Given the description of an element on the screen output the (x, y) to click on. 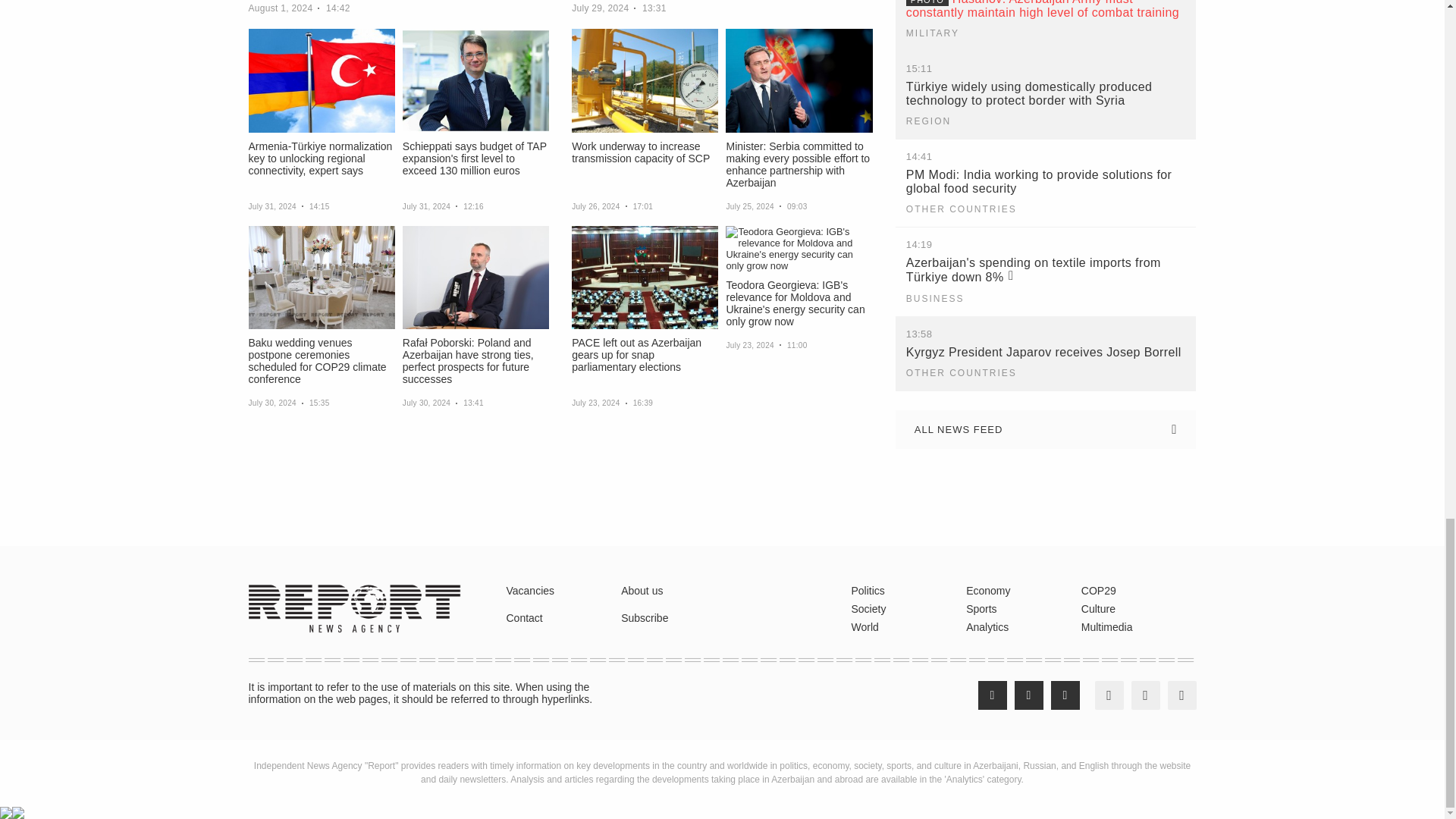
undefined (33, 512)
